Given the description of an element on the screen output the (x, y) to click on. 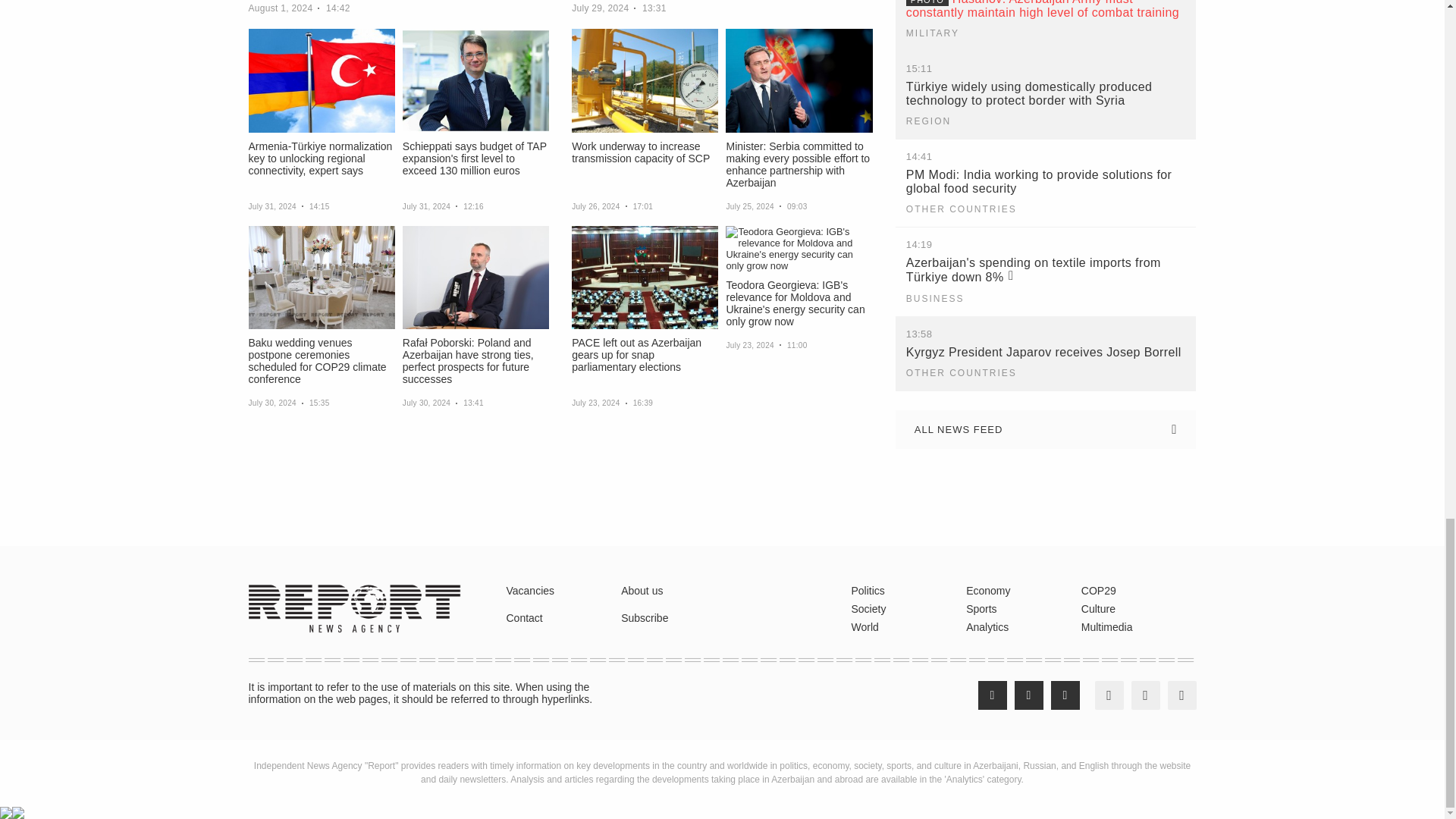
undefined (33, 512)
